Given the description of an element on the screen output the (x, y) to click on. 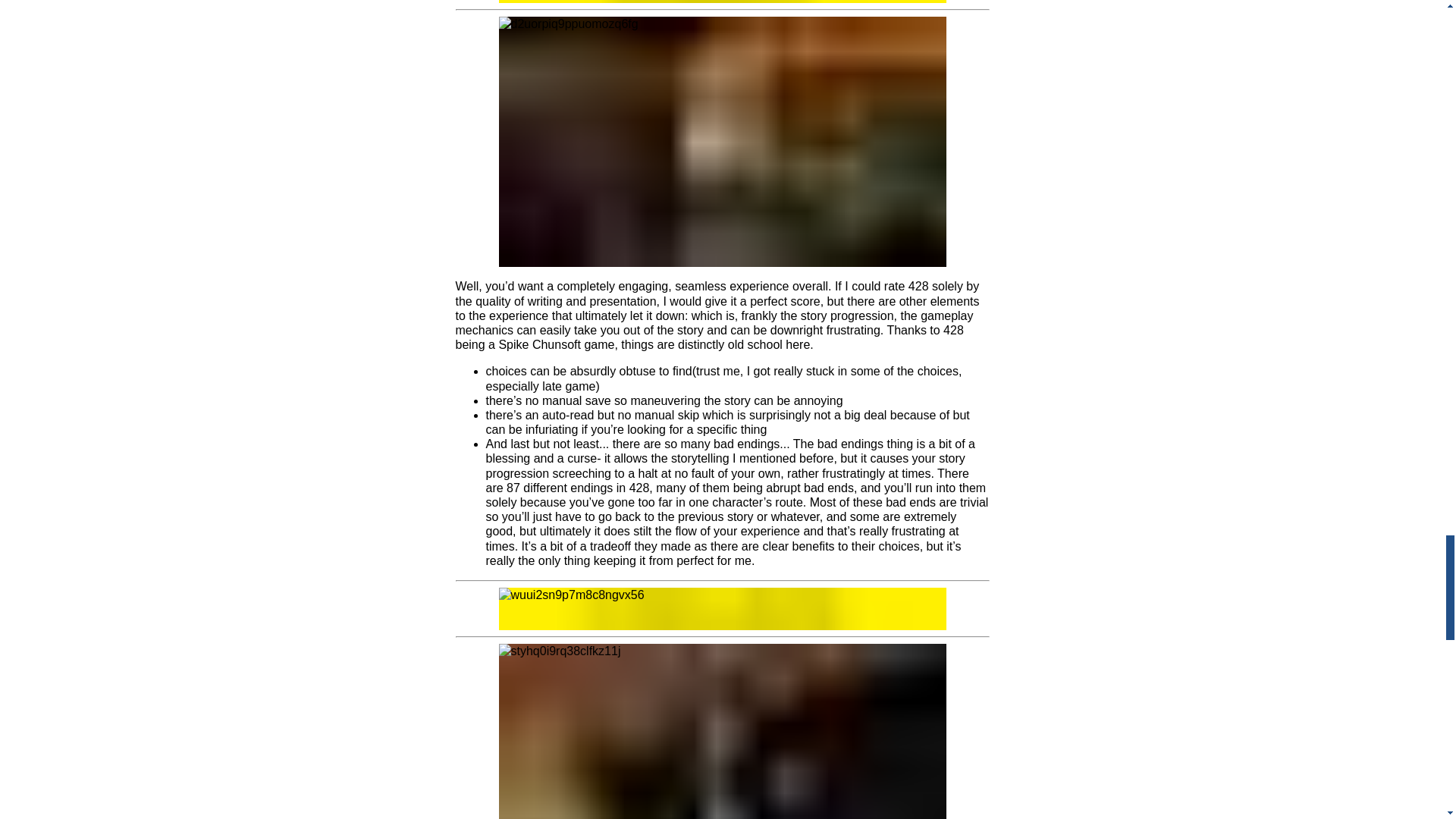
styhq0i9rq38clfkz11j (722, 731)
d2uorpiq9ppuomozq6fg (722, 141)
wuui2sn9p7m8c8ngvx56 (722, 608)
